Given the description of an element on the screen output the (x, y) to click on. 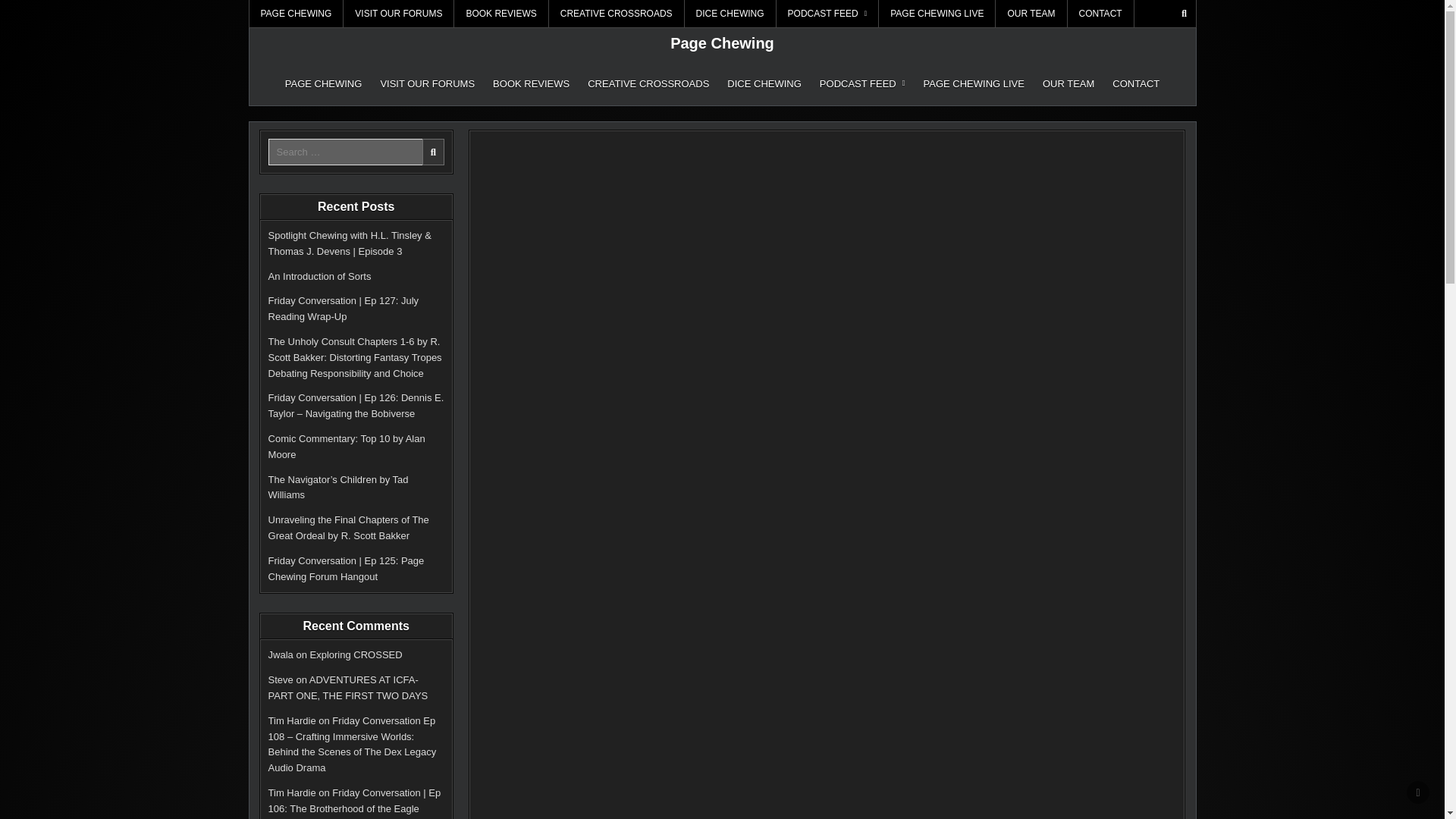
CONTACT (1136, 83)
DICE CHEWING (730, 13)
PAGE CHEWING (295, 13)
PAGE CHEWING LIVE (973, 83)
PODCAST FEED (827, 13)
DICE CHEWING (763, 83)
VISIT OUR FORUMS (427, 83)
Scroll to Top (1417, 792)
PODCAST FEED (862, 83)
BOOK REVIEWS (501, 13)
